Given the description of an element on the screen output the (x, y) to click on. 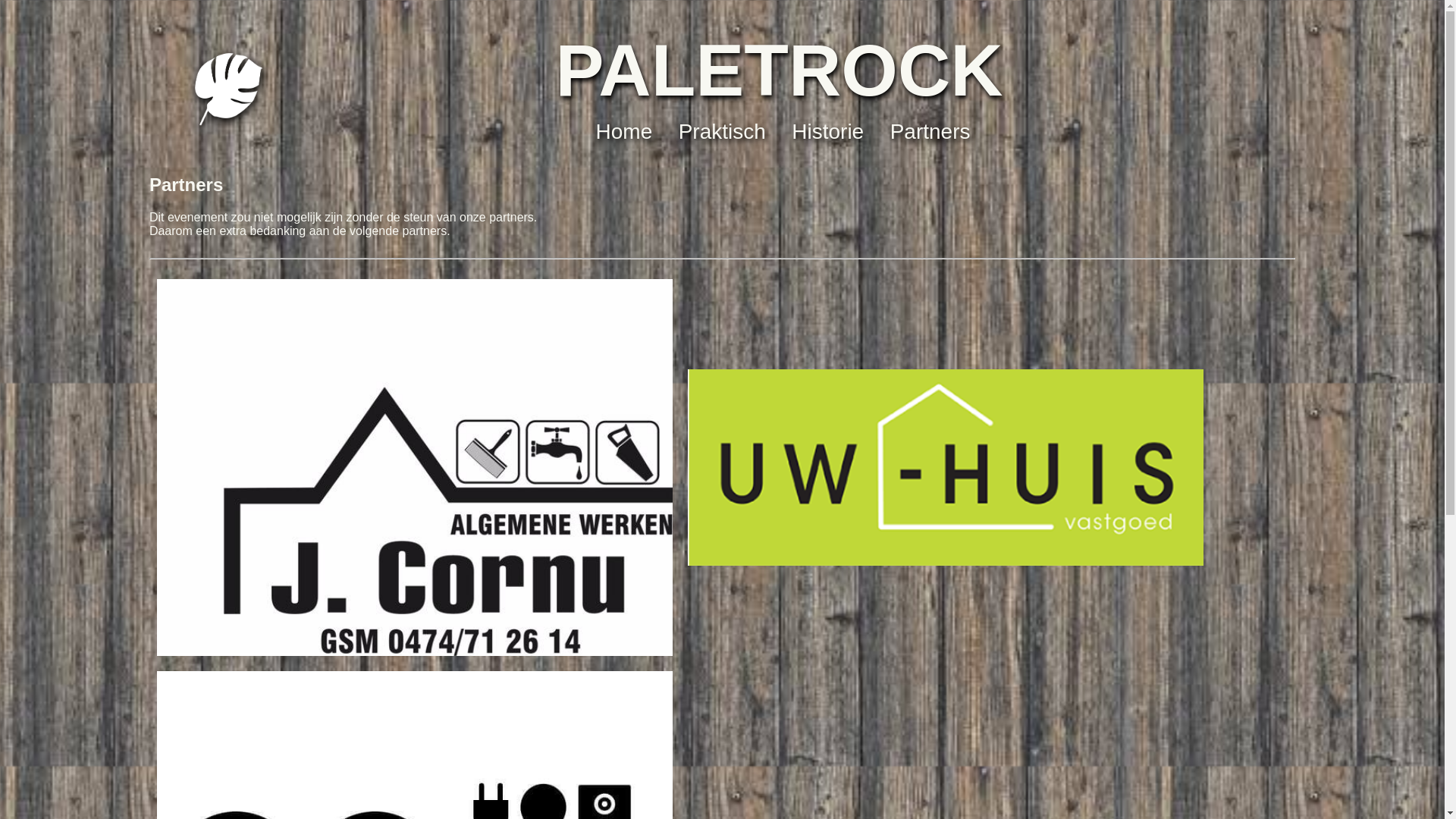
Praktisch Element type: text (721, 131)
Home Element type: text (624, 131)
Partners Element type: text (930, 131)
Historie Element type: text (827, 131)
